Given the description of an element on the screen output the (x, y) to click on. 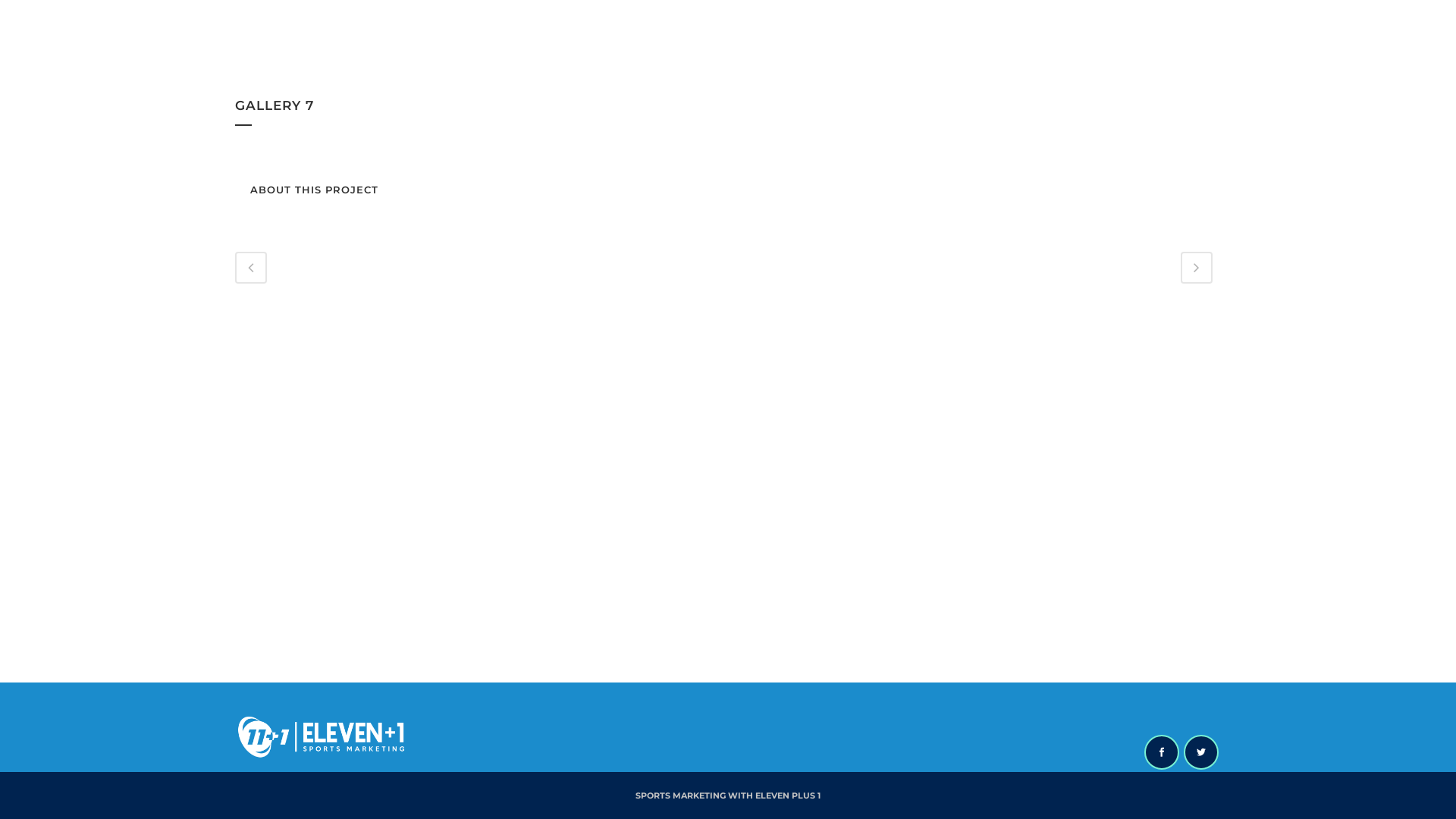
ELEVEN PLUS 1 Element type: text (787, 795)
GET IN TOUCH Element type: text (1166, 53)
LATEST OFFER Element type: text (1058, 53)
